Given the description of an element on the screen output the (x, y) to click on. 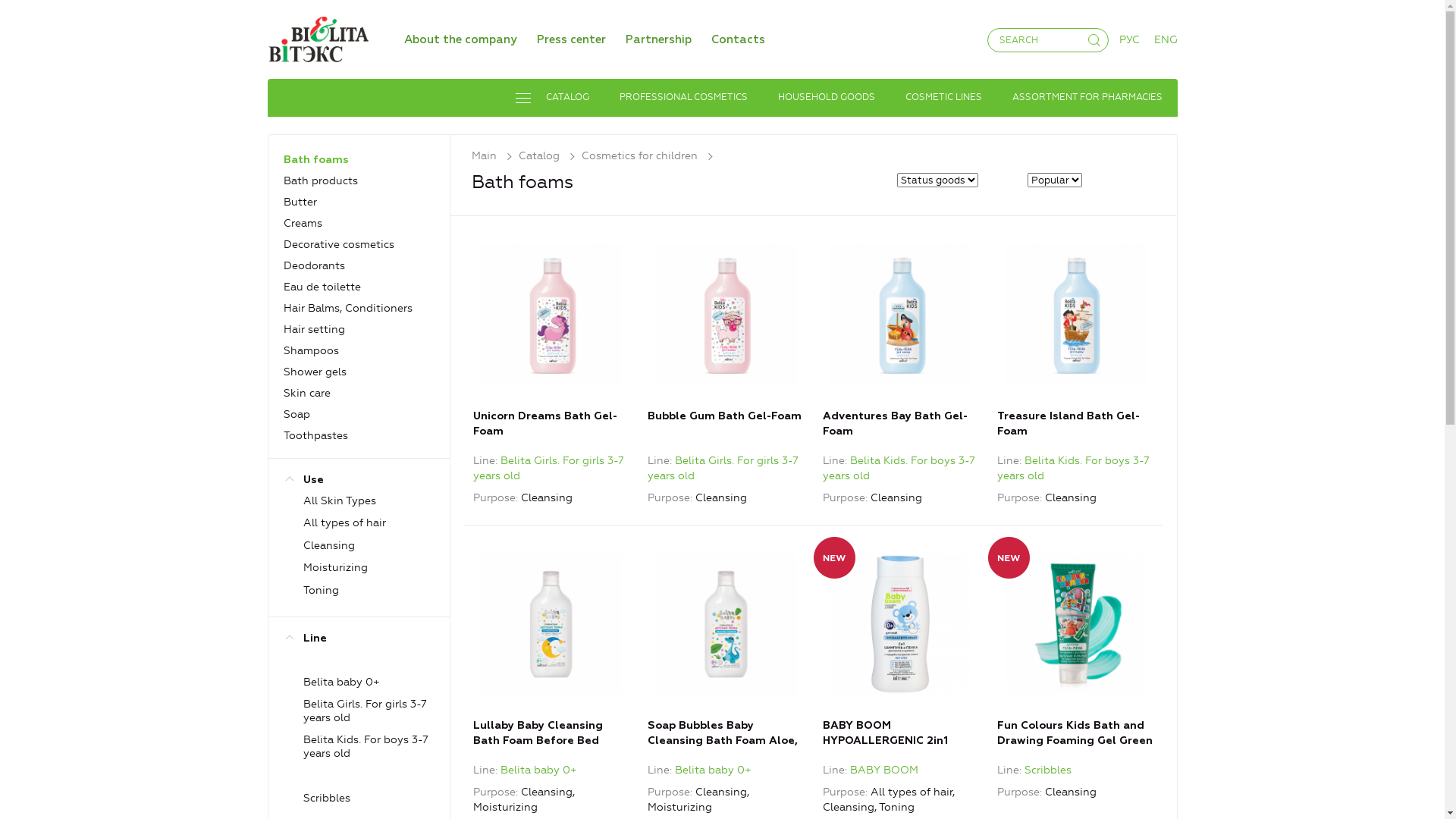
Adventures Bay Bath Gel-Foam Element type: text (900, 341)
Bubble Gum Bath Gel-Foam Element type: text (725, 341)
Treasure Island Bath Gel-Foam Element type: text (1075, 341)
Belita baby 0+ Element type: text (712, 769)
Shampoos Element type: text (310, 350)
Press center Element type: text (570, 39)
Bath foams Element type: text (315, 159)
Decorative cosmetics Element type: text (338, 244)
ENG Element type: text (1165, 39)
Creams Element type: text (302, 222)
Treasure Island Bath Gel-Foam Element type: hover (1074, 314)
Belita Girls. For girls 3-7 years old Element type: text (548, 468)
Search Element type: text (35, 12)
Butter Element type: text (299, 201)
Skin care Element type: text (306, 392)
Toothpastes Element type: text (315, 435)
Bubble Gum Bath Gel-Foam Element type: hover (725, 314)
Unicorn Dreams Bath Gel-Foam Element type: hover (550, 314)
Belita&Vitex Element type: hover (316, 36)
Belita&Vitex Element type: hover (316, 38)
Main Element type: text (494, 155)
Lullaby Baby Cleansing Bath Foam Before Bed Lavender Oil Element type: hover (550, 623)
BABY BOOM Element type: text (884, 769)
Shower gels Element type: text (314, 371)
About the company Element type: text (459, 39)
Belita Kids. For boys 3-7 years old Element type: text (1073, 468)
Scribbles Element type: text (1047, 769)
PROFESSIONAL COSMETICS Element type: text (682, 97)
Eau de toilette Element type: text (321, 286)
CATALOG Element type: text (552, 97)
Catalog Element type: text (549, 155)
Hair Balms, Conditioners Element type: text (347, 307)
Contacts Element type: text (738, 39)
Hair setting Element type: text (314, 329)
Bath products Element type: text (320, 180)
Unicorn Dreams Bath Gel-Foam Element type: text (551, 341)
ASSORTMENT FOR PHARMACIES Element type: text (1086, 97)
Fun Colours Kids Bath and Drawing Foaming Gel Green Element type: hover (1074, 623)
Partnership Element type: text (657, 39)
Deodorants Element type: text (314, 265)
Belita Kids. For boys 3-7 years old Element type: text (898, 468)
Soap Element type: text (296, 413)
Belita Girls. For girls 3-7 years old Element type: text (722, 468)
COSMETIC LINES Element type: text (943, 97)
Lullaby Baby Cleansing Bath Foam Before Bed Lavender Oil Element type: text (551, 651)
Belita baby 0+ Element type: text (538, 769)
Adventures Bay Bath Gel-Foam Element type: hover (900, 314)
Cosmetics for children Element type: text (650, 155)
Fun Colours Kids Bath and Drawing Foaming Gel Green Element type: text (1075, 651)
HOUSEHOLD GOODS Element type: text (826, 97)
